Given the description of an element on the screen output the (x, y) to click on. 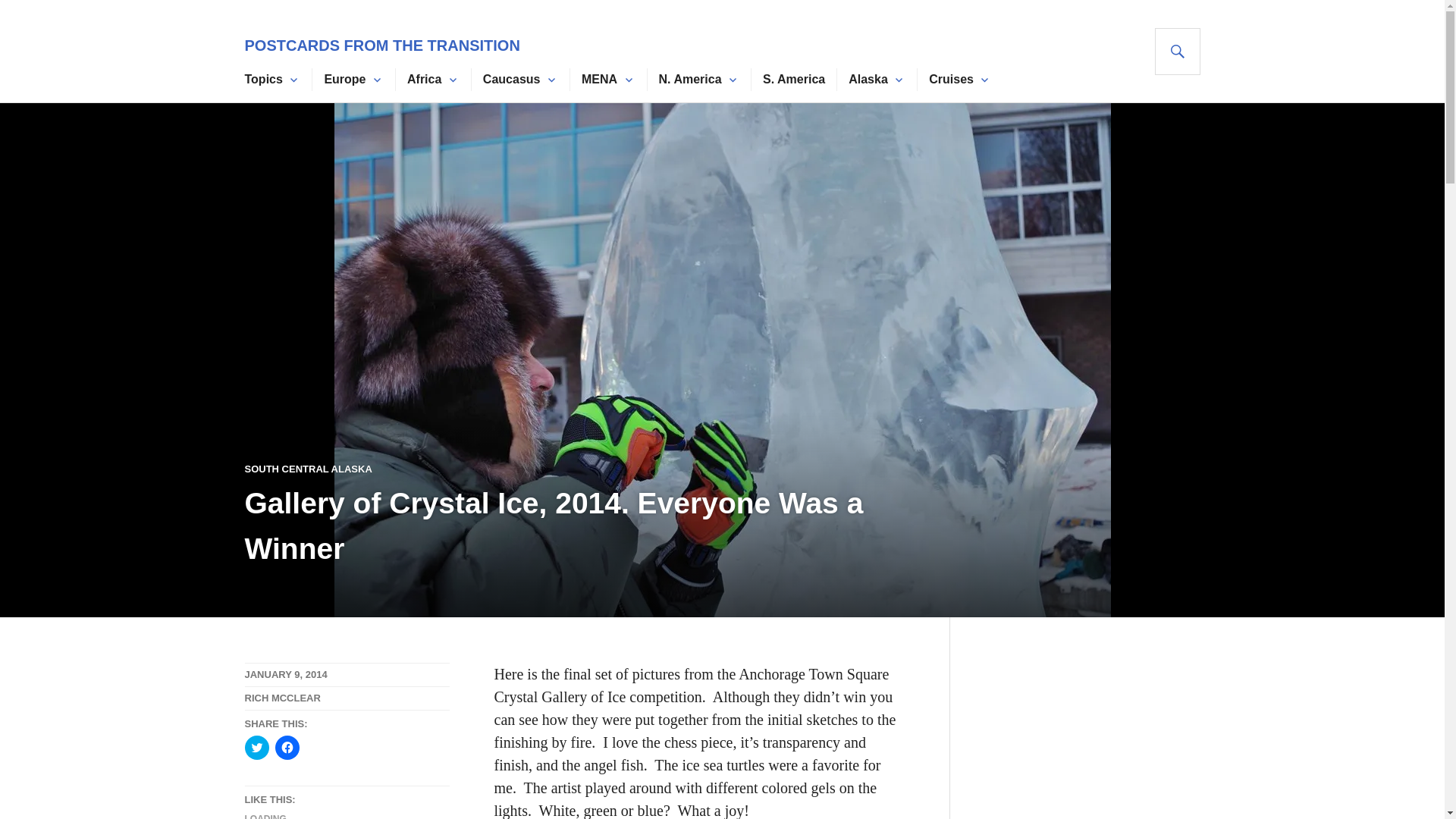
Europe (344, 78)
Topics (263, 78)
Click to share on Twitter (255, 747)
POSTCARDS FROM THE TRANSITION (381, 45)
